Given the description of an element on the screen output the (x, y) to click on. 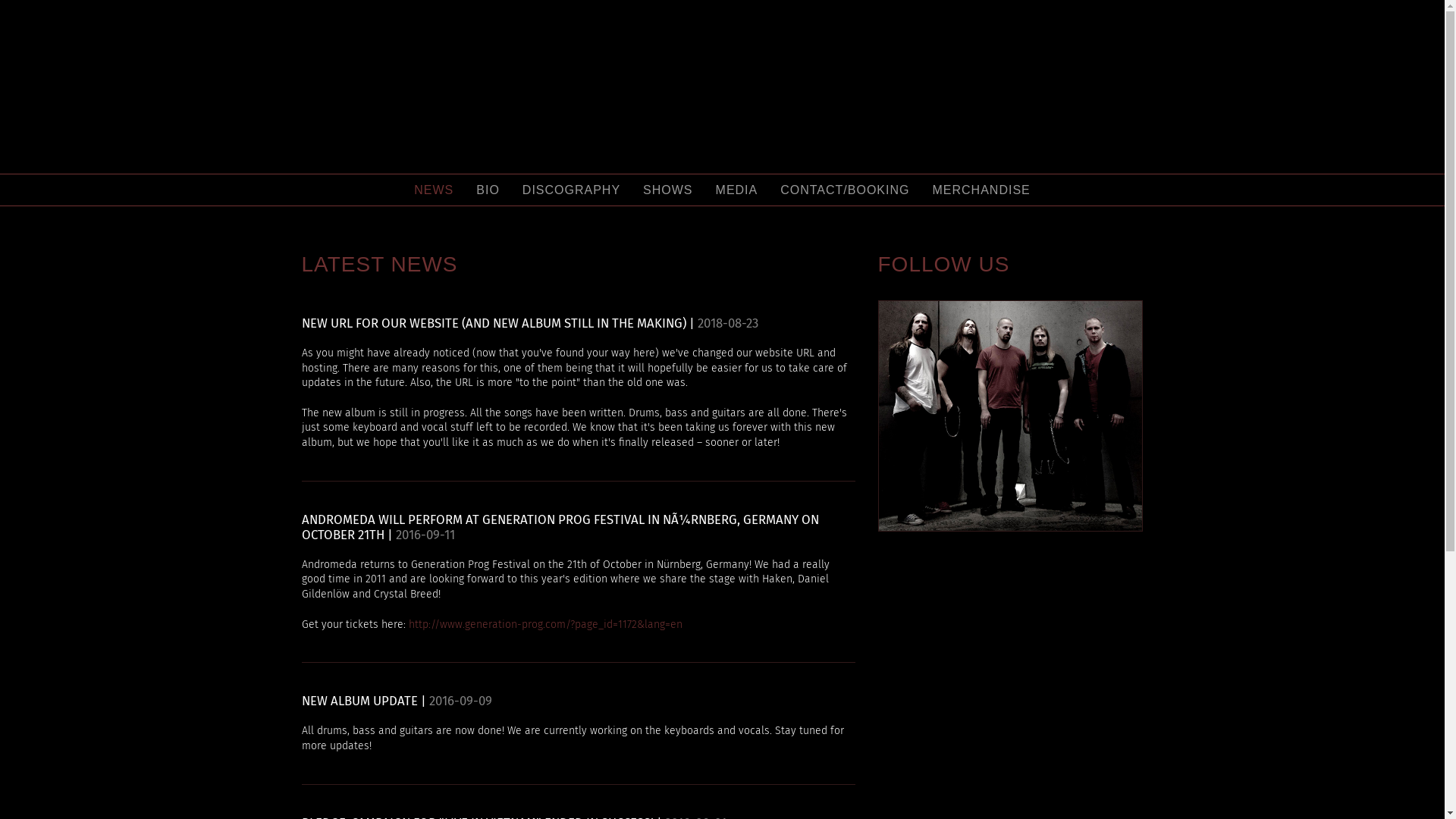
DISCOGRAPHY Element type: text (571, 189)
BIO Element type: text (487, 189)
http://www.generation-prog.com/?page_id=1172&lang=en Element type: text (544, 624)
MEDIA Element type: text (736, 189)
CONTACT/BOOKING Element type: text (844, 189)
SHOWS Element type: text (667, 189)
NEWS Element type: text (433, 189)
MERCHANDISE Element type: text (980, 189)
